Given the description of an element on the screen output the (x, y) to click on. 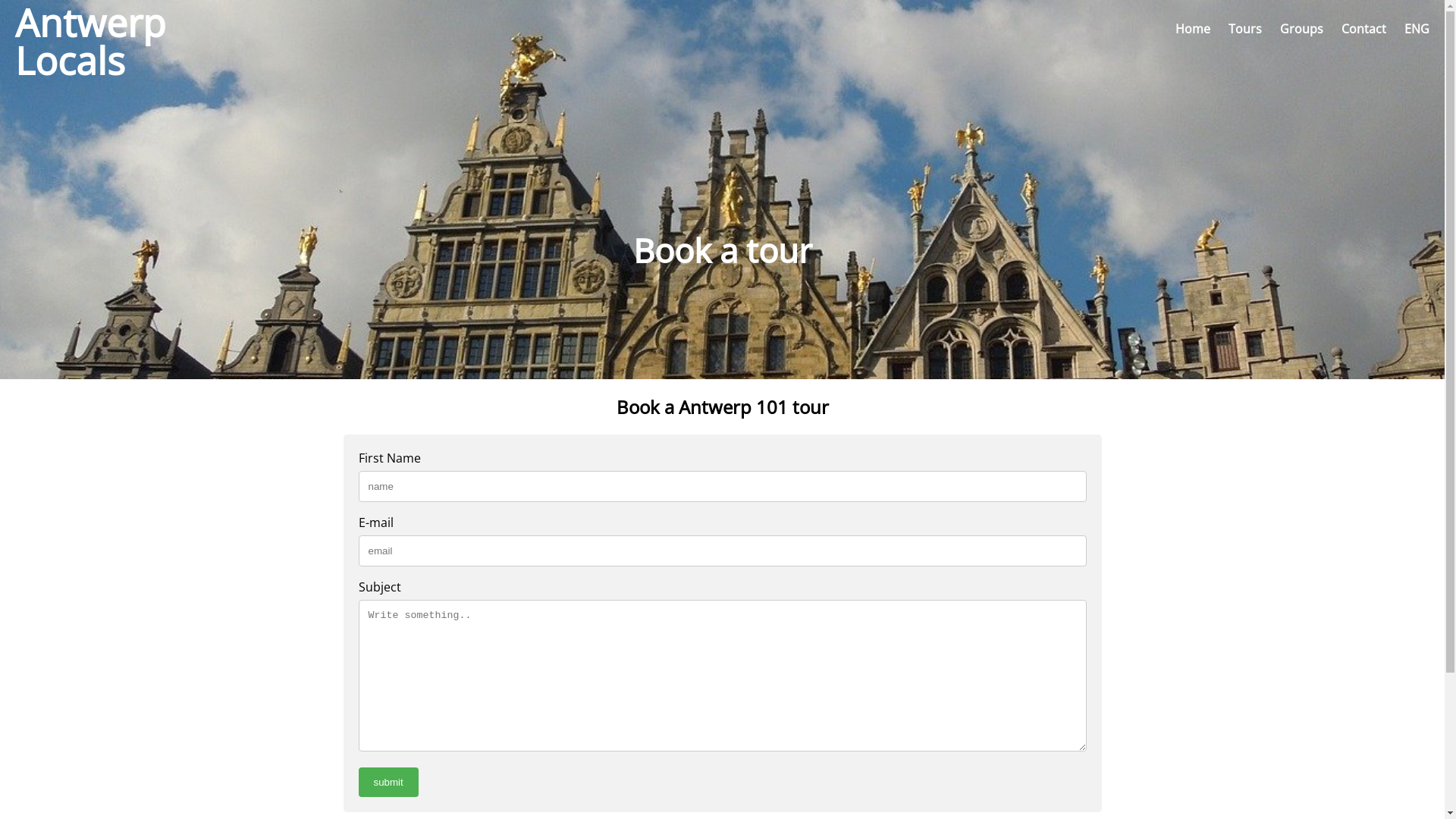
Contact Element type: text (1363, 28)
Home Element type: text (1192, 28)
Groups Element type: text (1301, 28)
Antwerp
Locals Element type: text (75, 28)
submit Element type: text (387, 782)
Tours Element type: text (1244, 28)
ENG Element type: text (1416, 28)
